Given the description of an element on the screen output the (x, y) to click on. 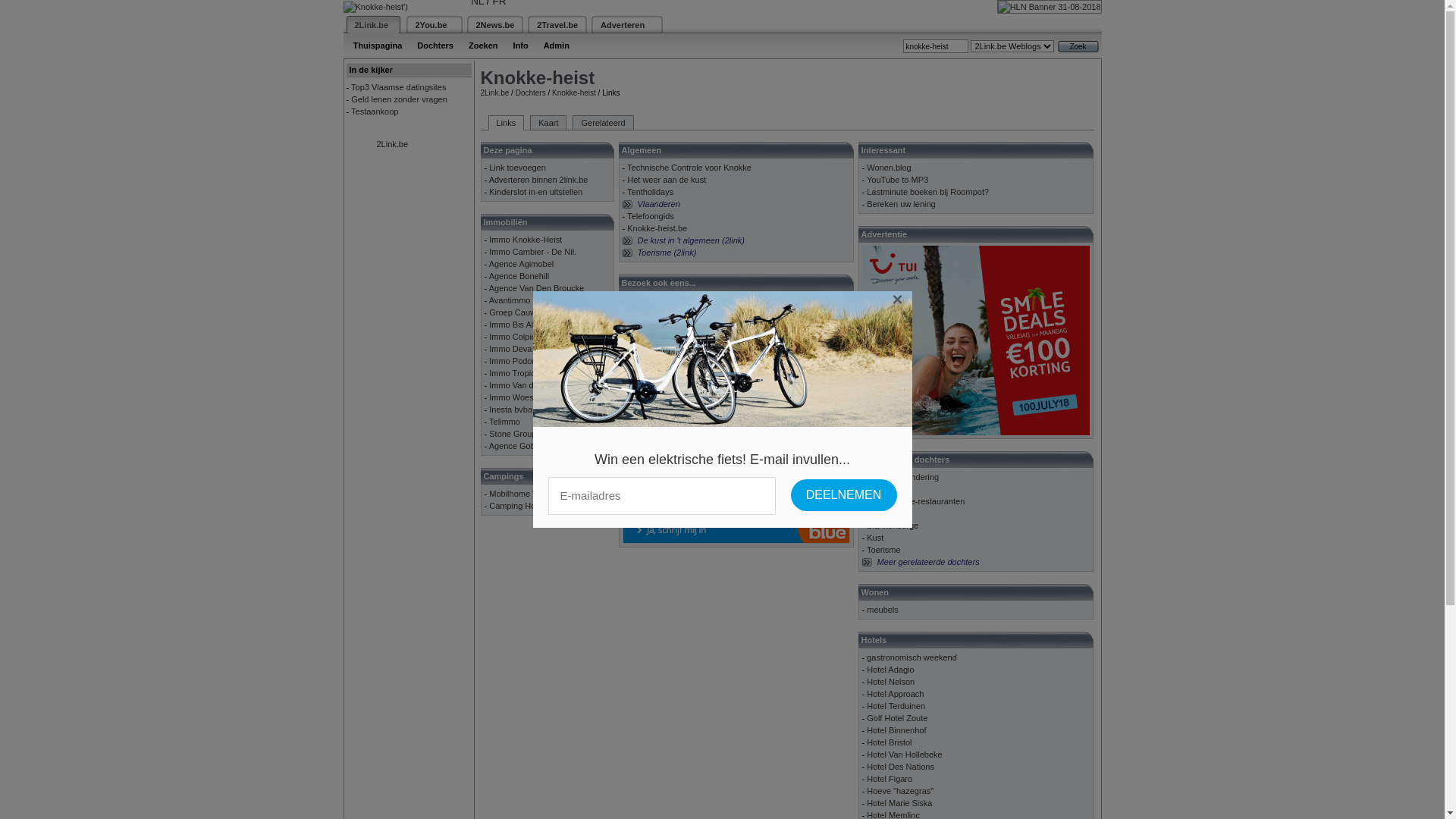
Golf Hotel Zoute Element type: text (896, 717)
Tentholidays Element type: text (650, 191)
Dochters Element type: text (435, 45)
2Travel.be Element type: text (556, 24)
Agence Gobert Element type: text (517, 445)
Hotel Van Hollebeke Element type: text (903, 754)
Hotel Marie Siska Element type: text (898, 802)
Hotel Terduinen Element type: text (895, 705)
Kaart Element type: text (548, 122)
Immo Tropic Element type: text (512, 372)
Bodypaint Element type: text (645, 311)
Stone Group Element type: text (512, 433)
2News.be Element type: text (495, 24)
Agence Bonehill Element type: text (519, 275)
Zoek Element type: text (1077, 46)
Zoeken Element type: text (483, 45)
Link toevoegen Element type: text (517, 167)
2You.be Element type: text (431, 24)
Groep Cauwe Element type: text (514, 311)
De kust in 't algemeen (2link) Element type: text (690, 239)
Adverteren binnen 2link.be Element type: text (538, 179)
Wonen.blog Element type: text (888, 167)
Agence Agimobel Element type: text (521, 263)
Toerisme (2link) Element type: text (666, 252)
Avantimmo Element type: text (509, 299)
Vegetarische-restauranten Element type: text (915, 500)
Telimmo Element type: text (504, 421)
Hoeve "hazegras" Element type: text (899, 790)
Mobilhome Verhuur Element type: text (525, 493)
Het weer aan de kust Element type: text (666, 179)
Bereken uw lening Element type: text (900, 203)
Geld lenen zonder vragen Element type: text (399, 98)
Dochters Element type: text (530, 92)
Immo Colpin Element type: text (512, 336)
Links Element type: text (506, 122)
Immo Cambier - De Nil. Element type: text (532, 251)
Kust Element type: text (874, 537)
Vlaanderen Element type: text (658, 203)
Camping Holiday Element type: text (520, 505)
Gerelateerd Element type: text (602, 122)
Knokke-heist.be Element type: text (657, 227)
Hotel Binnenhof Element type: text (895, 729)
Toerisme Element type: text (883, 549)
Testaankoop Element type: text (374, 111)
Lastminute boeken bij Roompot? Element type: text (927, 191)
Thuispagina Element type: text (377, 45)
gastronomisch weekend Element type: text (911, 657)
Blankenberge Element type: text (892, 525)
2Link.be Element type: text (371, 24)
meubels Element type: text (882, 609)
Immo Knokke-Heist Element type: text (525, 239)
Hotel Nelson Element type: text (890, 681)
Telefoongids Element type: text (650, 215)
Immo Podor Element type: text (511, 360)
Info Element type: text (520, 45)
Agence Van Den Broucke Element type: text (536, 287)
Immo Van de walle Element type: text (524, 384)
Hotel Adagio Element type: text (889, 669)
Klimaatverandering Element type: text (902, 476)
Knokke-heist Element type: text (574, 92)
Immo Woestyn Element type: text (516, 396)
Technische Controle voor Knokke Element type: text (689, 167)
YouTube to MP3 Element type: text (897, 179)
Admin Element type: text (556, 45)
Website Laten Maken Knokke Element type: text (682, 299)
Inesta bvba Element type: text (510, 409)
Top3 Vlaamse datingsites Element type: text (398, 86)
Meer gerelateerde dochters Element type: text (927, 561)
Pretparken Element type: text (886, 488)
Hotel Bristol Element type: text (888, 741)
2Link.be Element type: text (494, 92)
2Link.be Element type: text (391, 143)
Immo Deva Element type: text (510, 348)
Adverteren Element type: text (622, 24)
Zeebrugge Element type: text (886, 512)
Hotel Figaro Element type: text (889, 778)
Hotel Approach Element type: text (894, 693)
Kinderslot in-en uitstellen Element type: text (535, 191)
Immo Bis Albertstrand Element type: text (530, 324)
Hotel Des Nations Element type: text (900, 766)
